Given the description of an element on the screen output the (x, y) to click on. 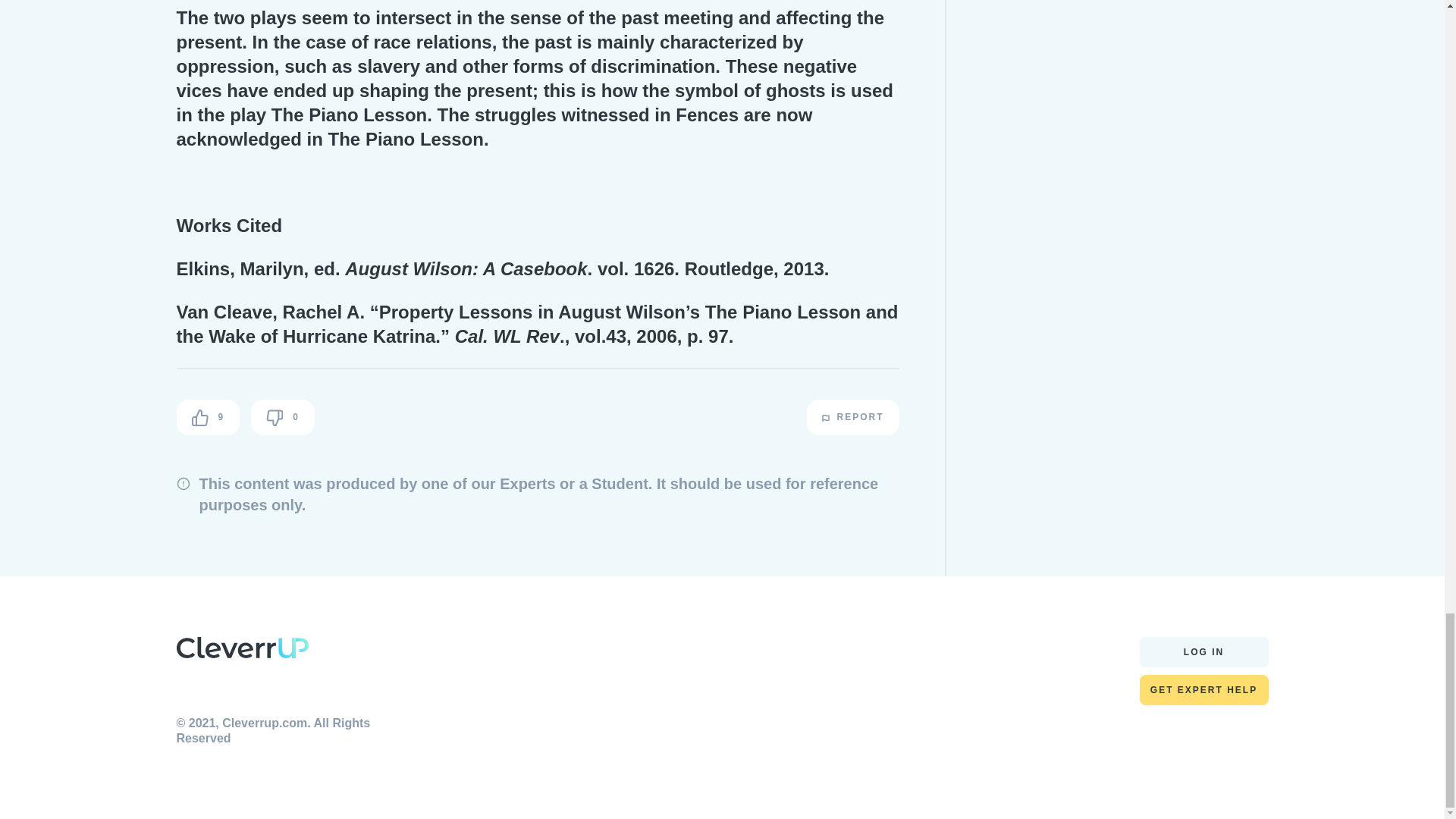
logo (241, 647)
Home (241, 651)
REPORT (852, 416)
0 (282, 416)
9 (208, 416)
